Given the description of an element on the screen output the (x, y) to click on. 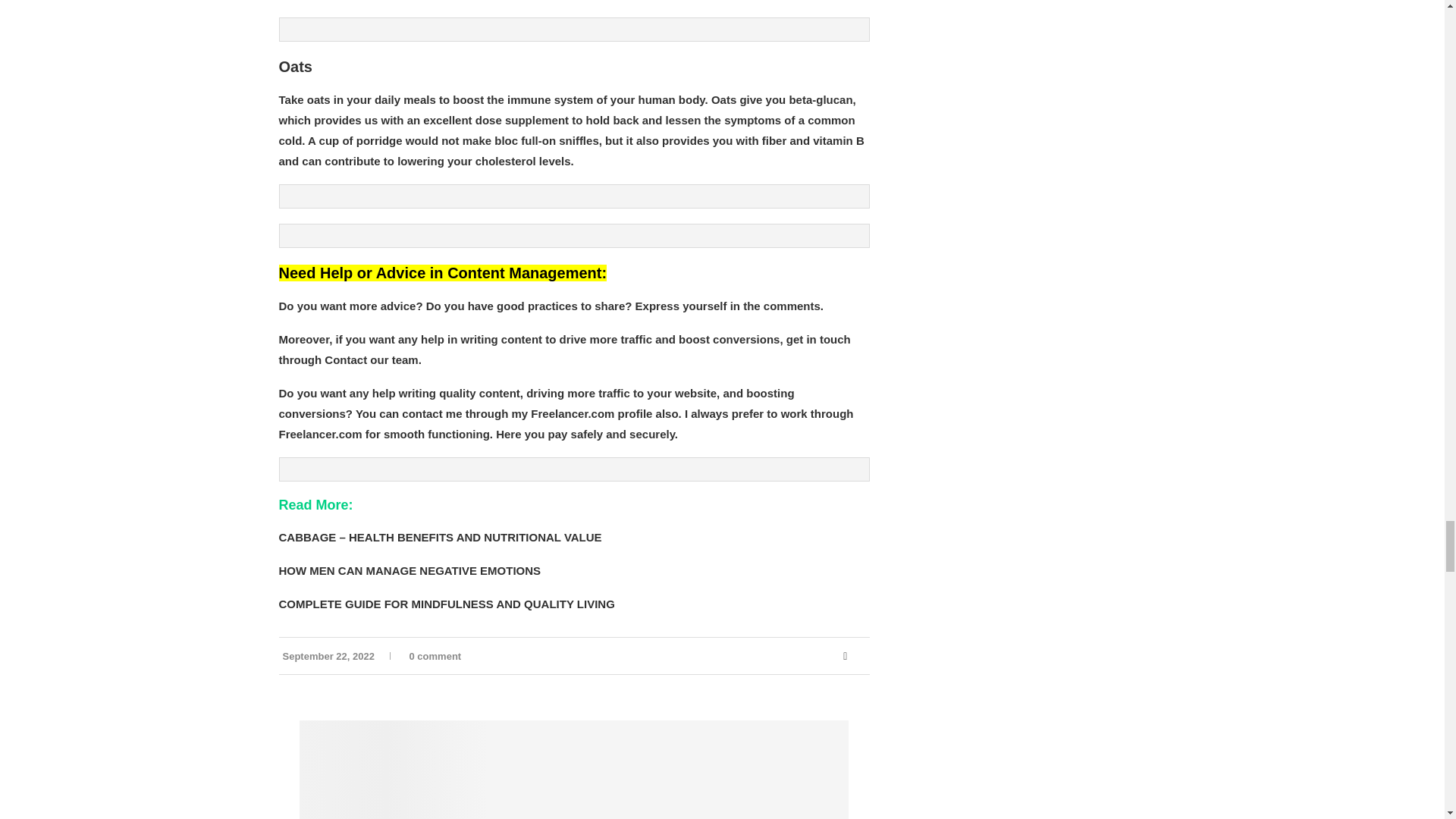
Gratitude (573, 769)
